Given the description of an element on the screen output the (x, y) to click on. 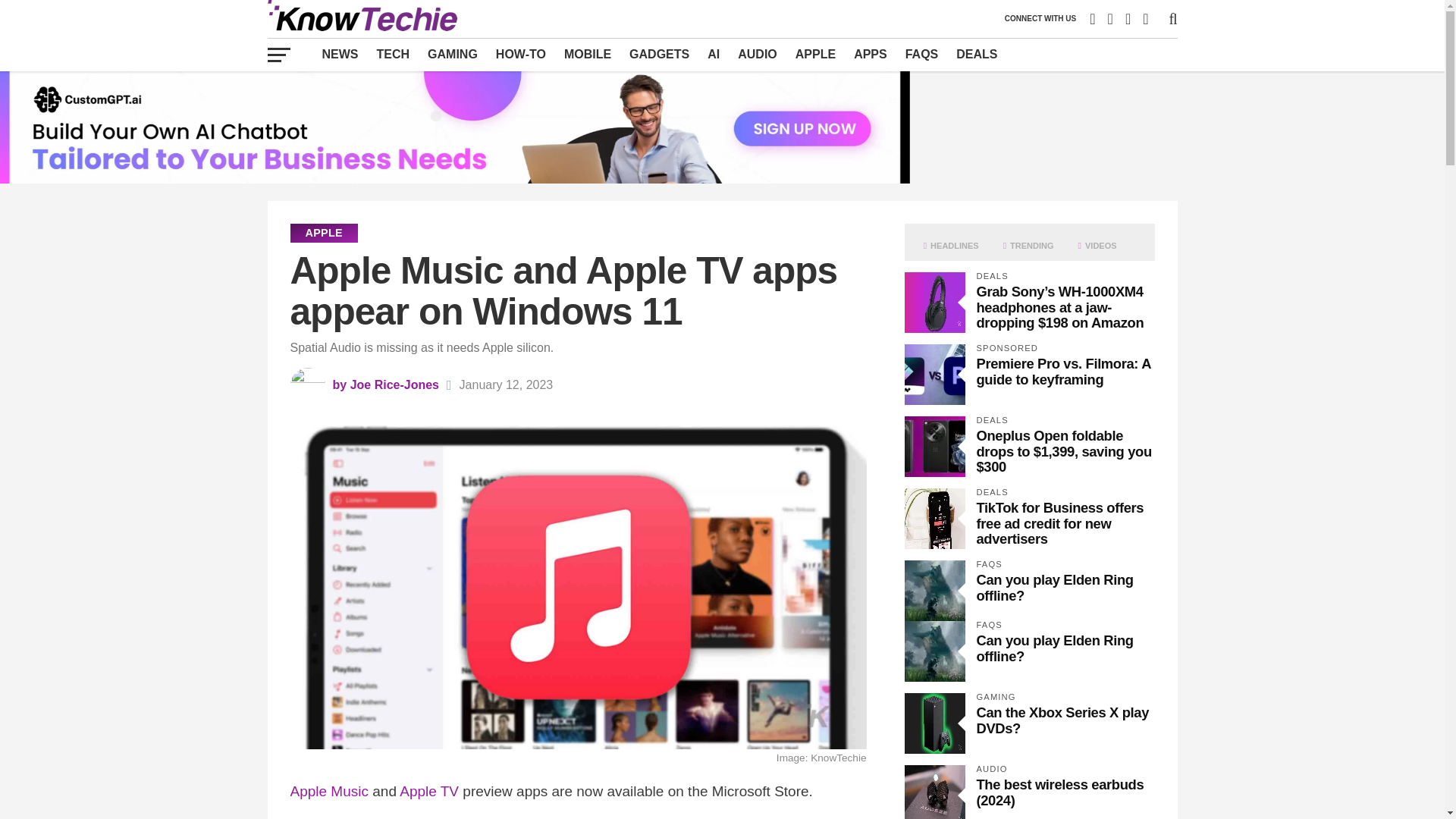
FAQS (921, 54)
NEWS (339, 54)
AI (713, 54)
Apple Music (328, 790)
Apple TV (428, 790)
AUDIO (757, 54)
GAMING (452, 54)
GADGETS (659, 54)
APPLE (815, 54)
Posts by Joe Rice-Jones (394, 384)
